Given the description of an element on the screen output the (x, y) to click on. 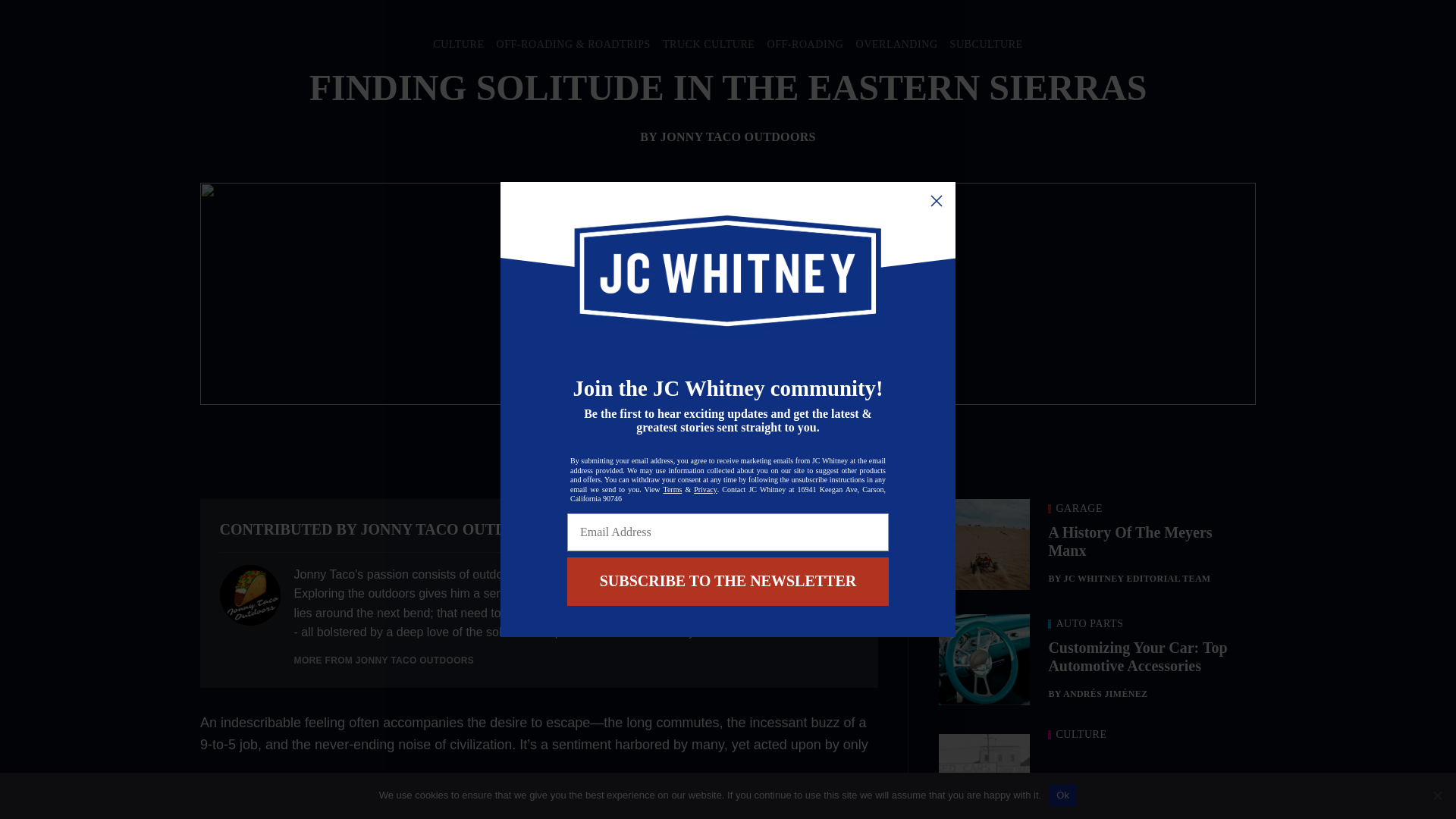
TRUCK CULTURE (708, 44)
VIEW AUTHOR WEBSITE (794, 528)
OFF-ROADING (805, 44)
MORE FROM JONNY TACO OUTDOORS (384, 660)
CULTURE (457, 44)
BY JONNY TACO OUTDOORS (727, 136)
SUBCULTURE (986, 44)
OVERLANDING (896, 44)
